Given the description of an element on the screen output the (x, y) to click on. 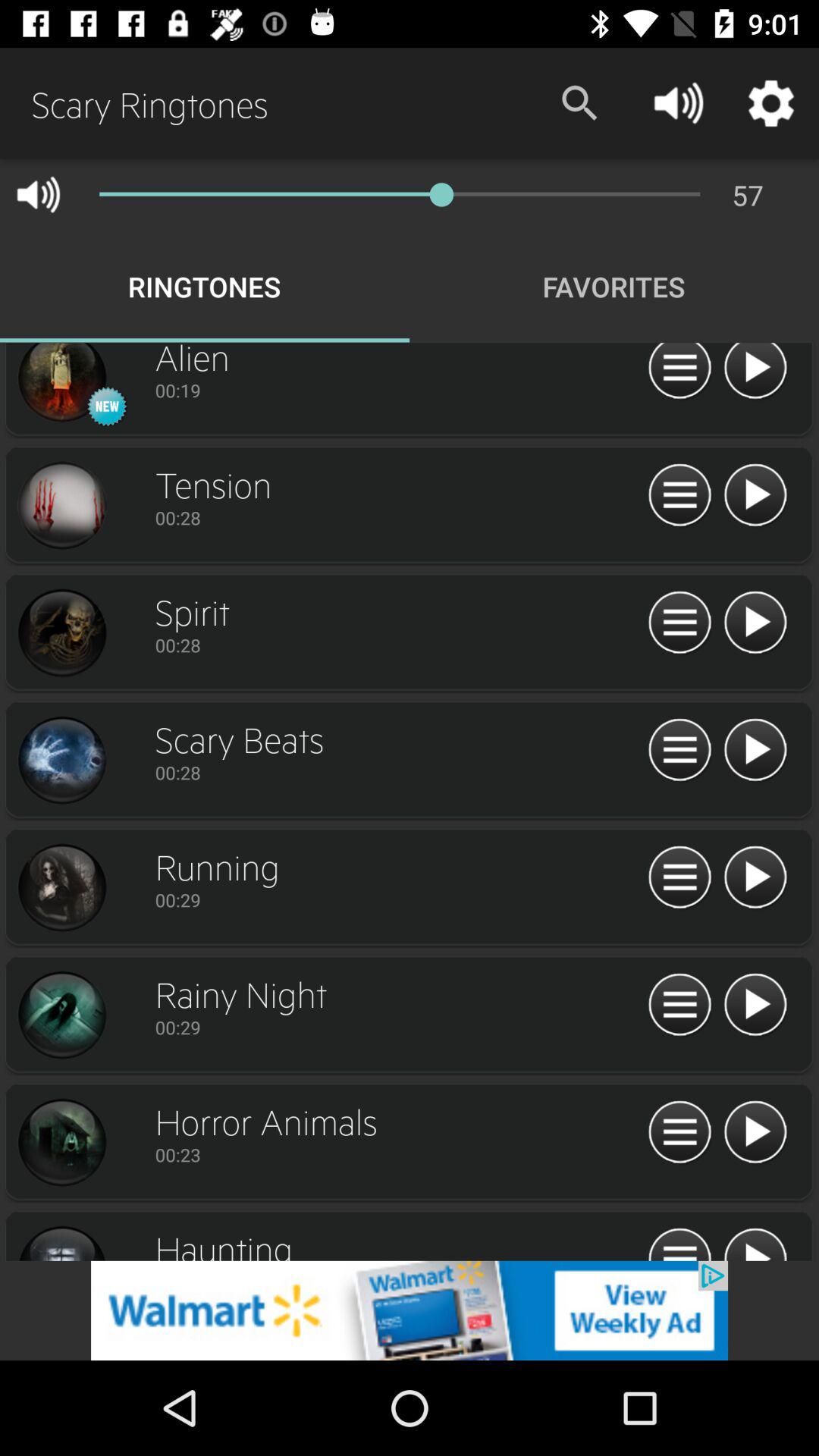
play spirit ringtone icon (755, 623)
